Given the description of an element on the screen output the (x, y) to click on. 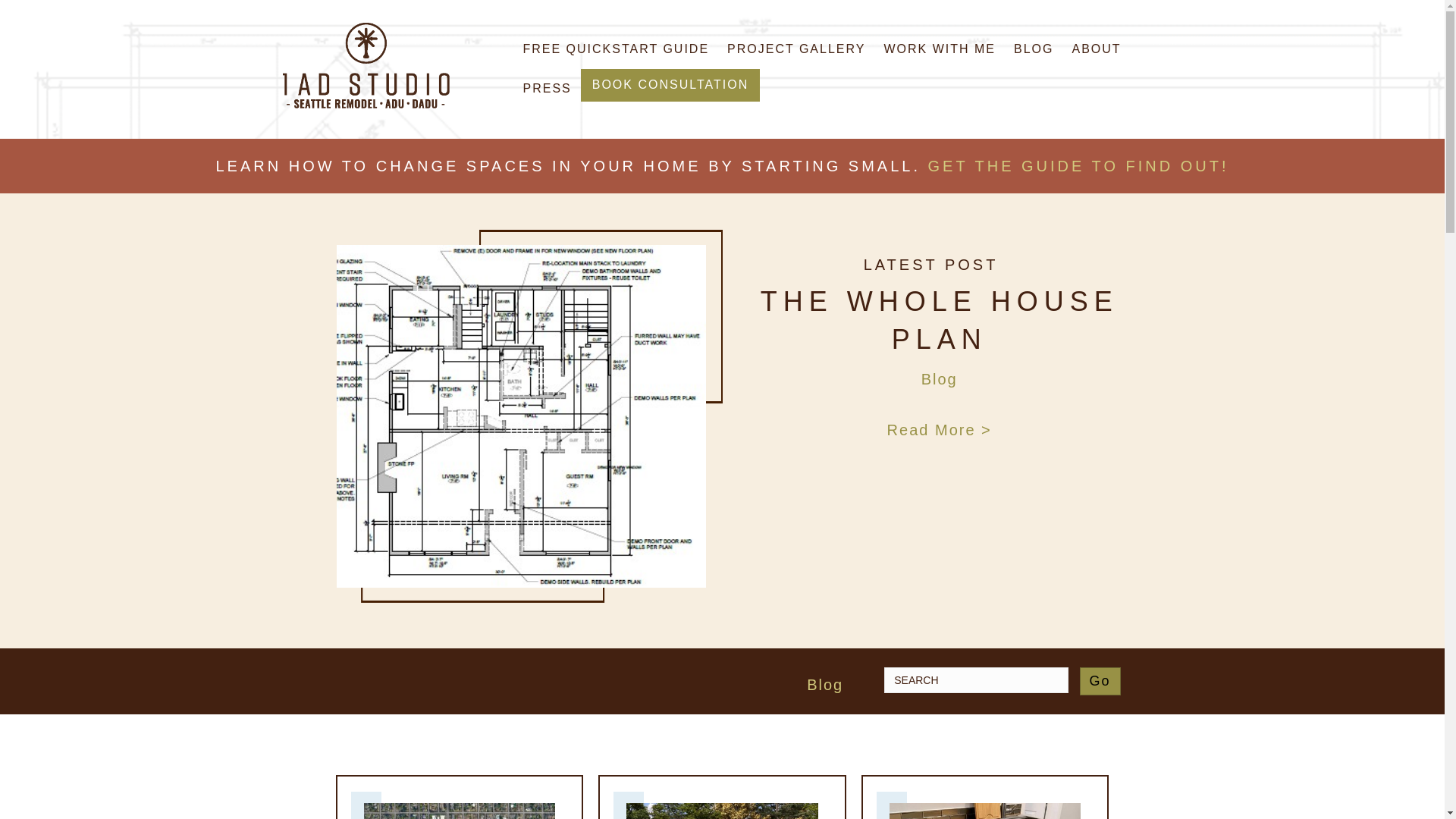
WORK WITH ME (939, 48)
ABOUT (1095, 48)
Go (1100, 681)
Blog (939, 379)
GET THE GUIDE TO FIND OUT! (1078, 166)
The Whole House Plan (939, 319)
Search (975, 679)
PROJECT GALLERY (796, 48)
BLOG (1033, 48)
The Whole House Plan (938, 429)
FREE QUICKSTART GUIDE (616, 48)
PRESS (546, 88)
The Whole House Plan (521, 414)
Search (975, 679)
THE WHOLE HOUSE PLAN (939, 319)
